Given the description of an element on the screen output the (x, y) to click on. 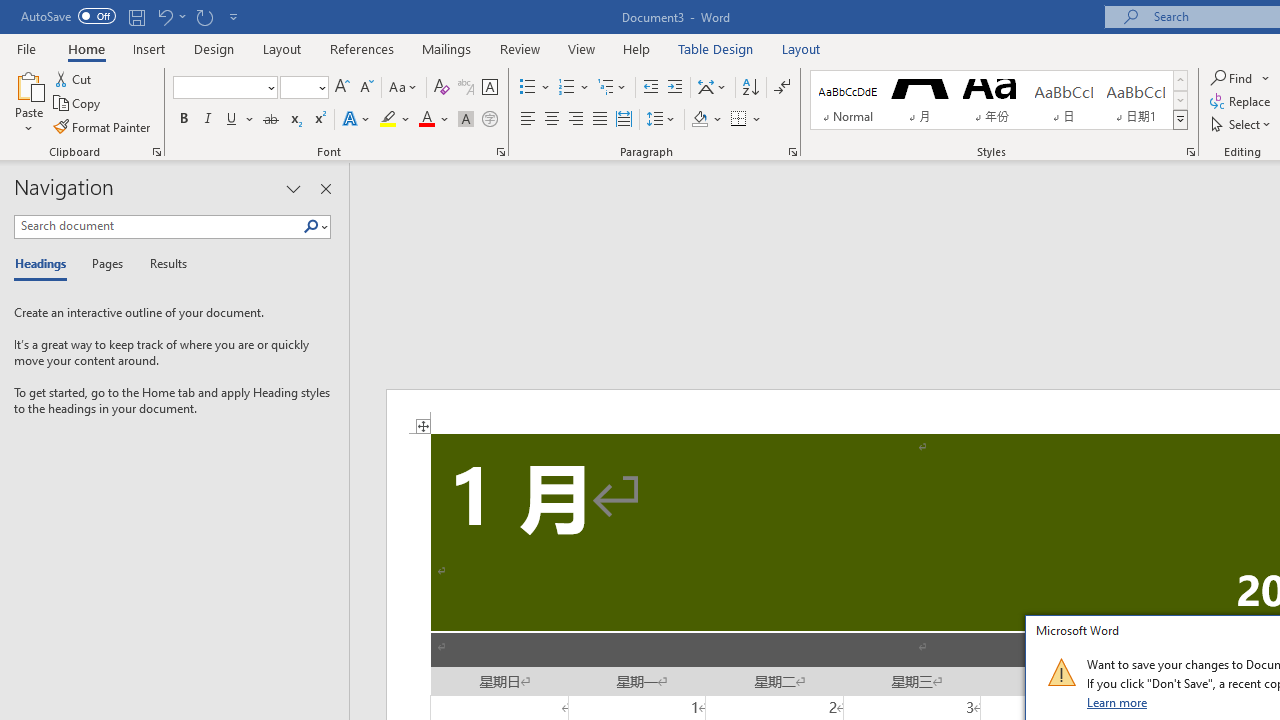
Undo Apply Quick Style (164, 15)
